Given the description of an element on the screen output the (x, y) to click on. 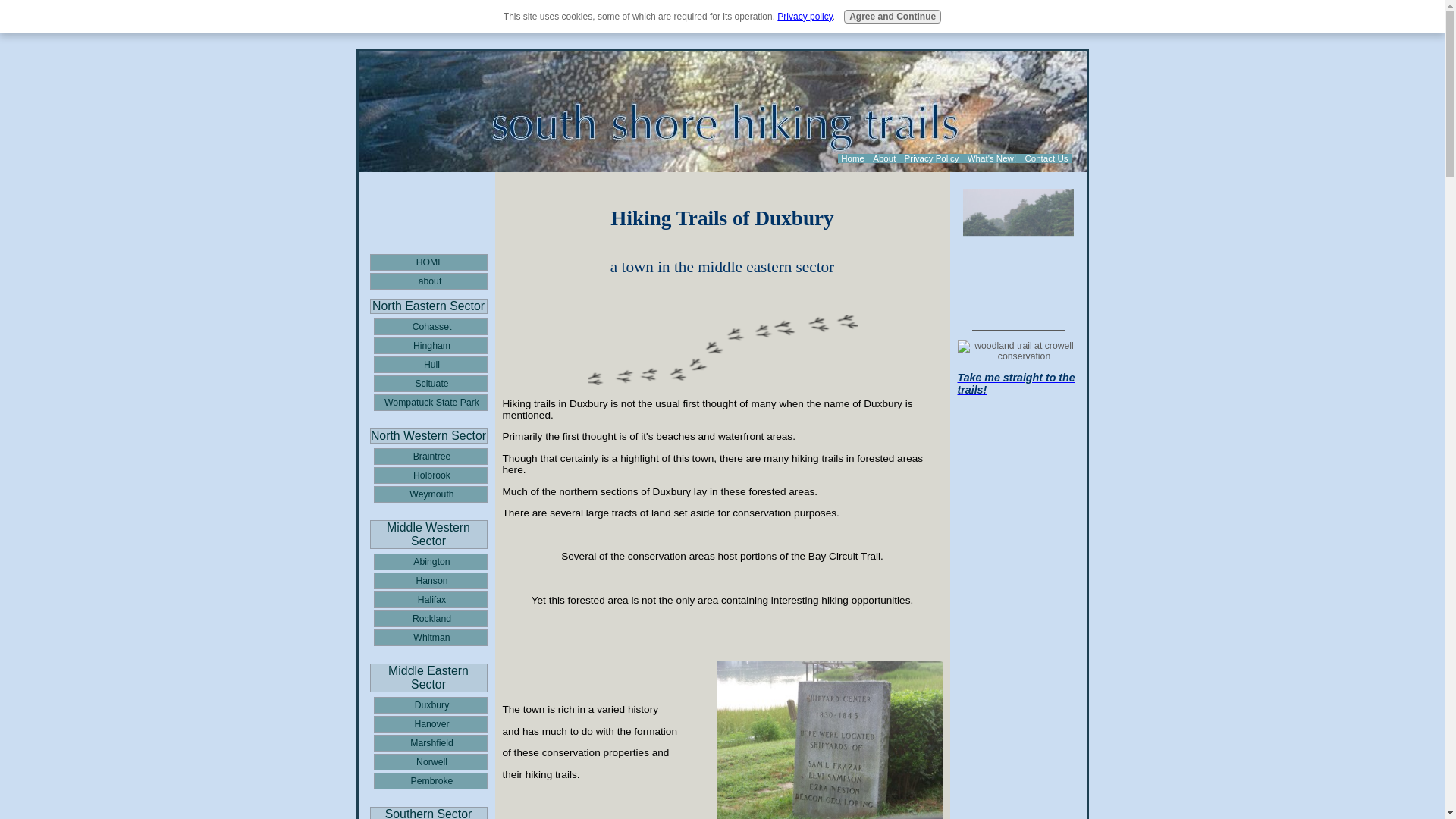
Rockland (429, 618)
Holbrook (429, 475)
Pembroke (429, 781)
revised bird tracks (721, 349)
Abington (429, 561)
Home (852, 157)
Weymouth (429, 494)
sign commemorating early shipyards in Duxbury (829, 739)
Contact Us (1046, 157)
Hanson (429, 580)
